Given the description of an element on the screen output the (x, y) to click on. 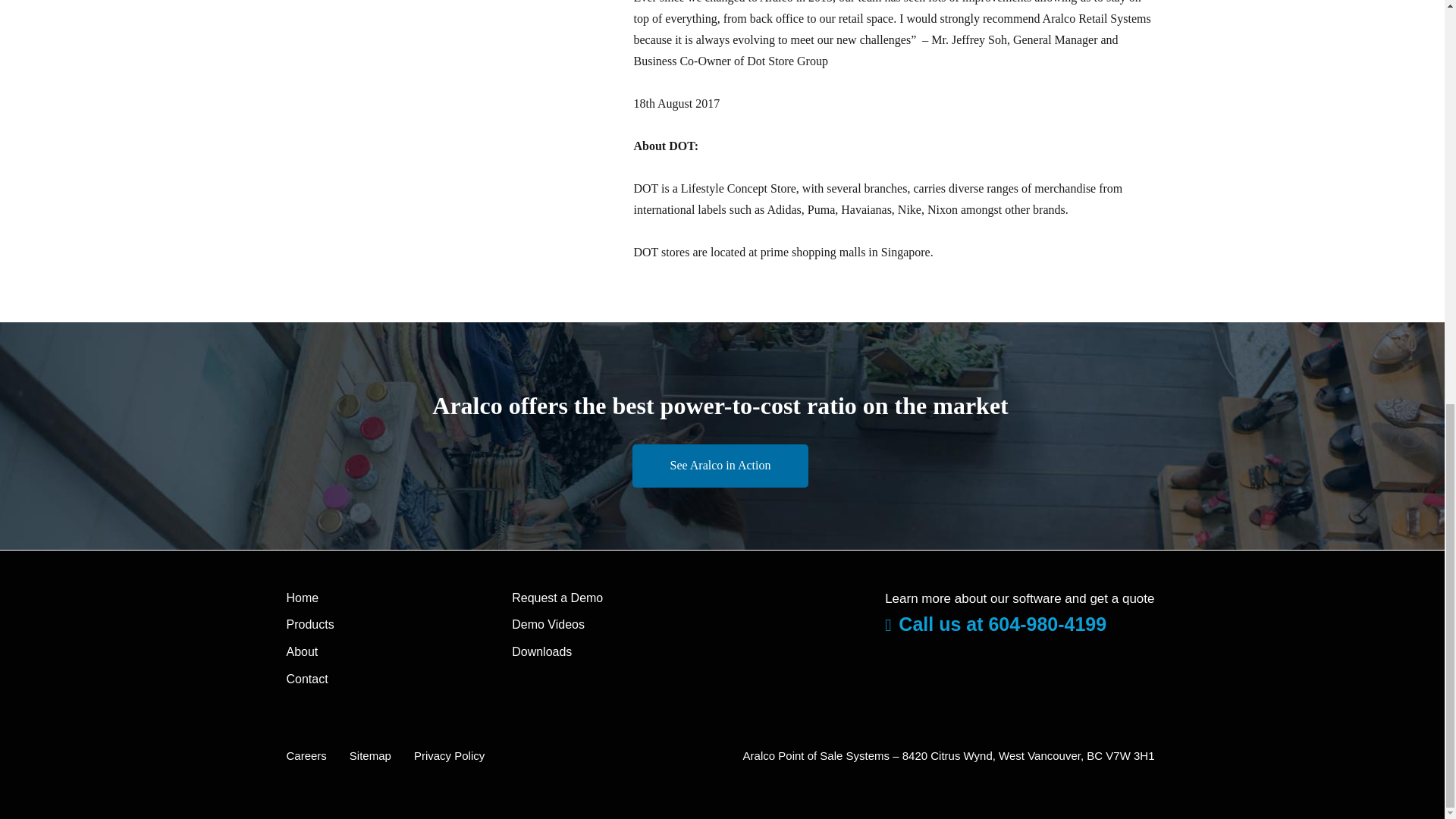
Careers (306, 755)
Products (310, 624)
See Aralco in Action (720, 465)
Demo Videos (548, 624)
Call us at 604-980-4199 (995, 623)
Home (302, 597)
Downloads (542, 651)
Sitemap (370, 755)
Request a Demo (557, 597)
Privacy Policy (448, 755)
